Given the description of an element on the screen output the (x, y) to click on. 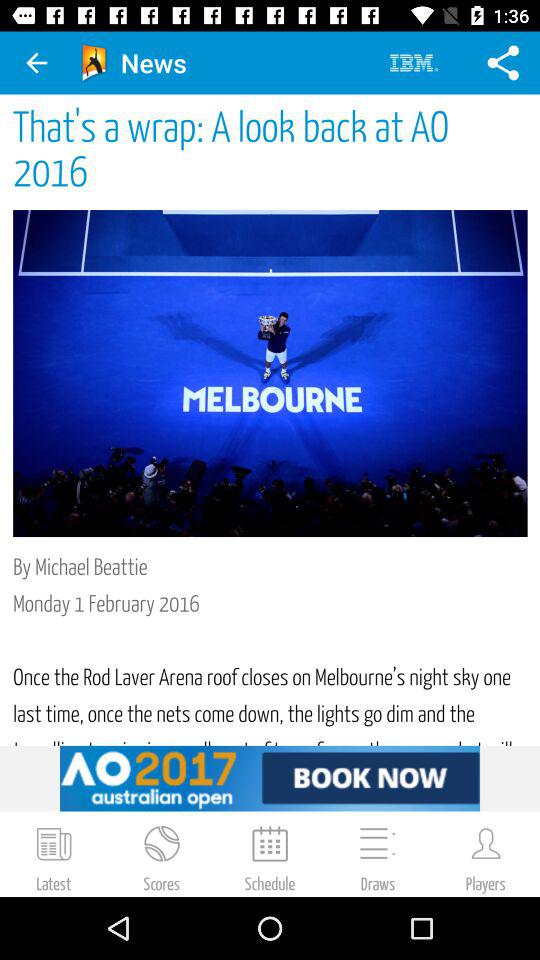
click on australian open advertisement (270, 778)
